Given the description of an element on the screen output the (x, y) to click on. 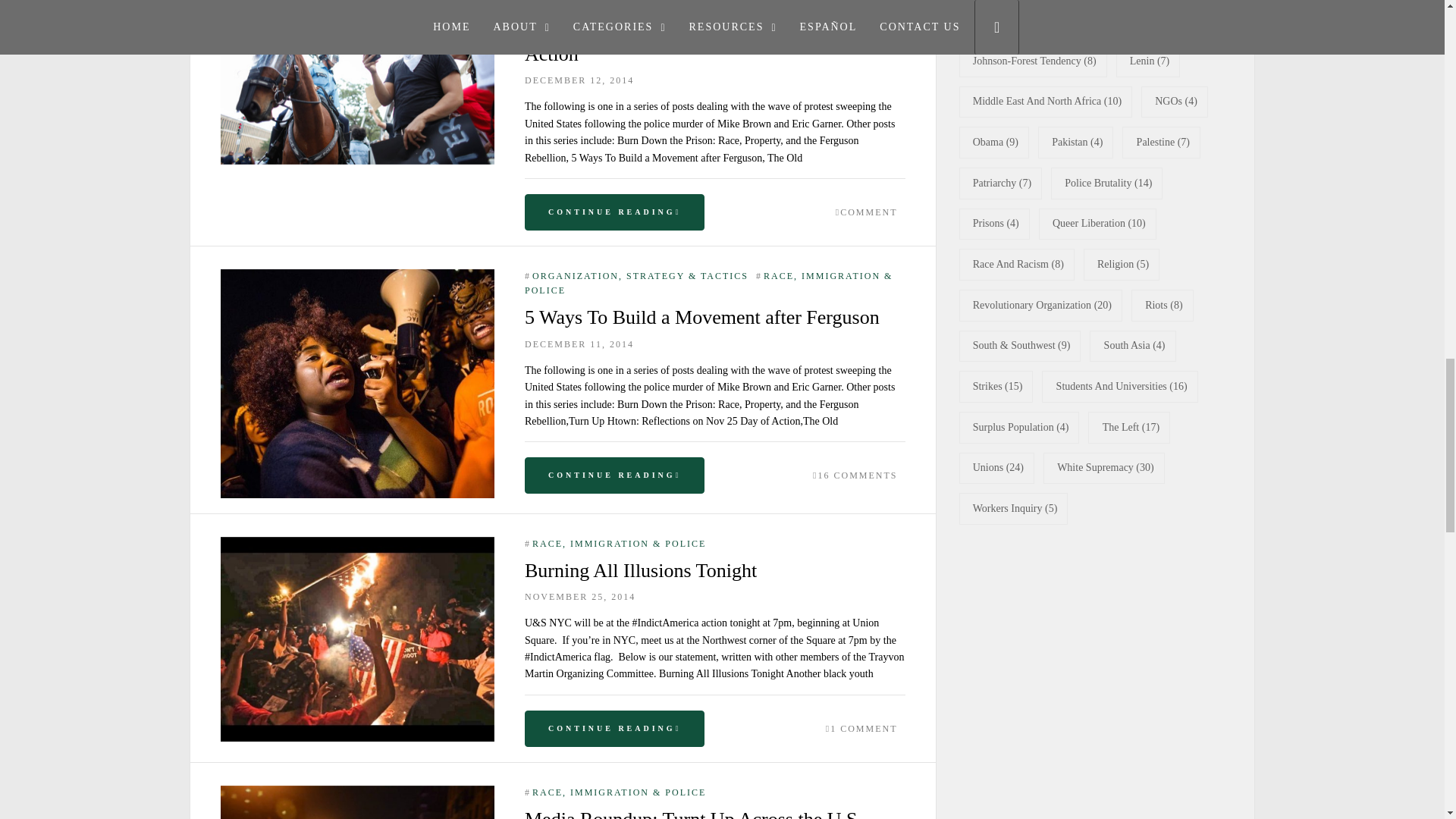
5 Ways To Build a Movement after Ferguson (358, 276)
Burning All Illusions Tonight (358, 544)
Media Roundup: Turnt Up Across the U.S. (358, 793)
